Given the description of an element on the screen output the (x, y) to click on. 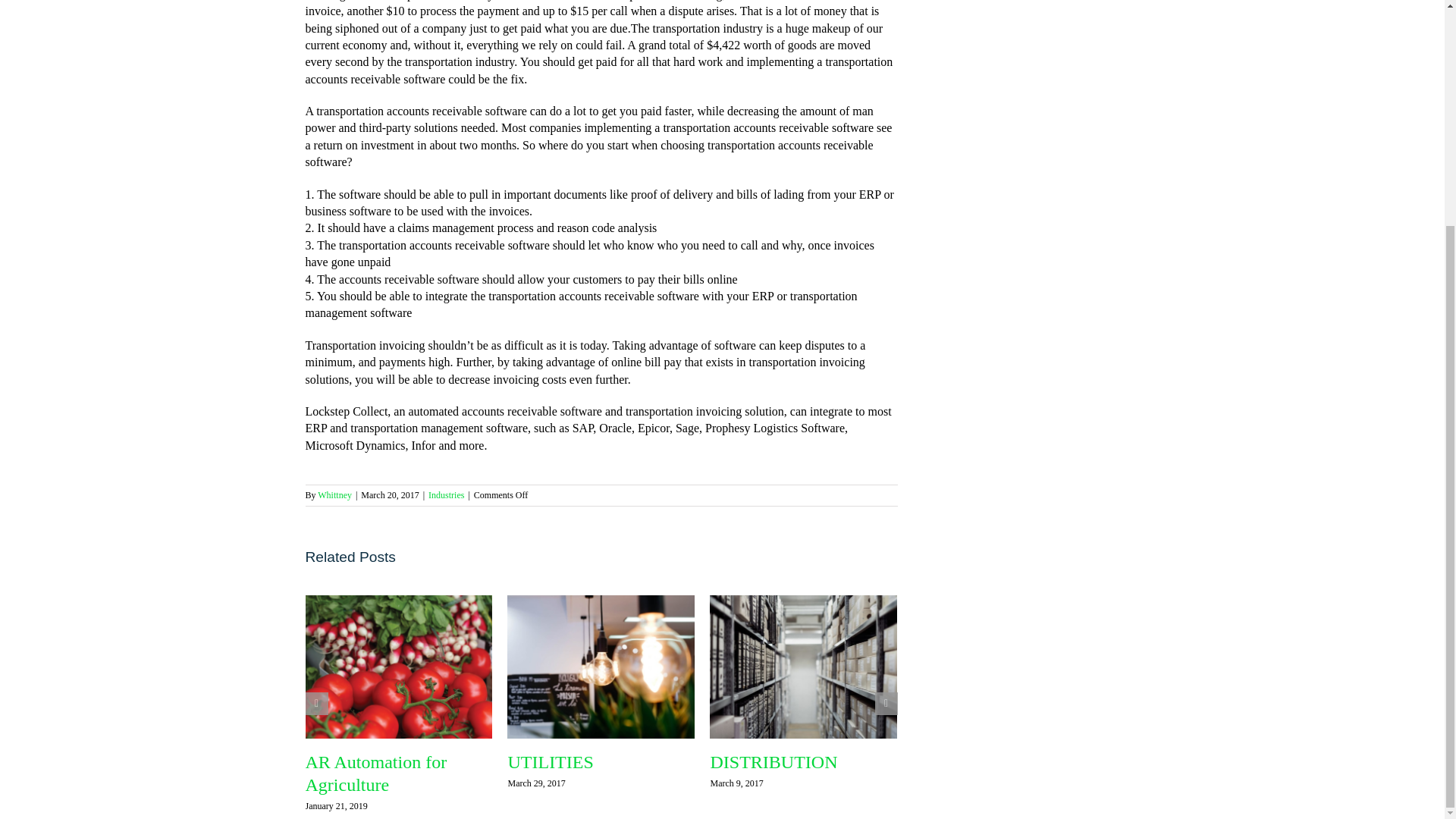
Industries (446, 494)
DISTRIBUTION (773, 762)
UTILITIES (549, 762)
Whittney (334, 494)
AR Automation for Agriculture (375, 773)
Posts by Whittney (334, 494)
AR Automation for Agriculture (375, 773)
